Given the description of an element on the screen output the (x, y) to click on. 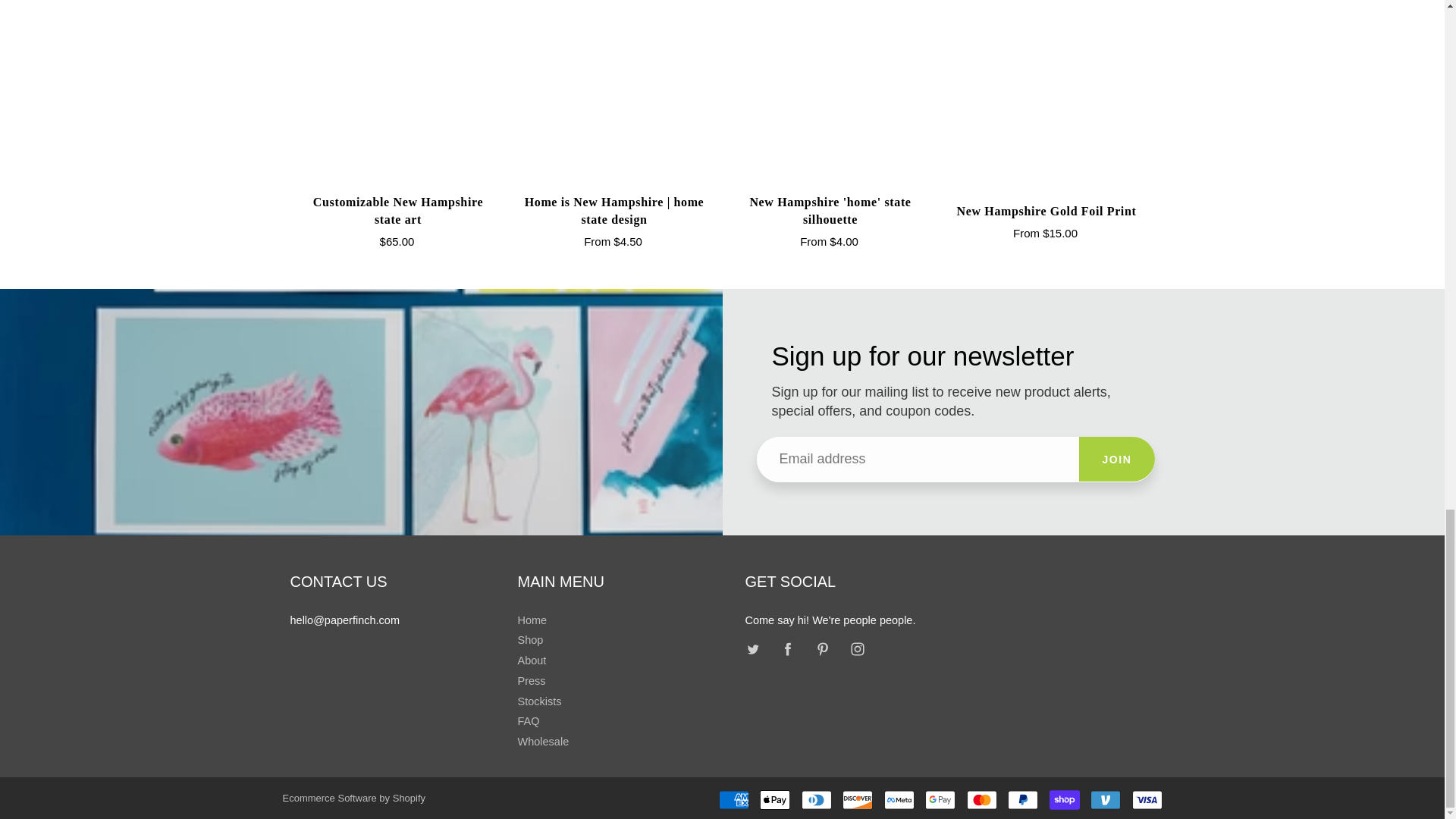
Shop Pay (1064, 799)
Meta Pay (898, 799)
Mastercard (981, 799)
Apple Pay (775, 799)
Google Pay (939, 799)
PayPal (1022, 799)
American Express (734, 799)
Diners Club (816, 799)
Visa (1146, 799)
Discover (857, 799)
Venmo (1105, 799)
